Given the description of an element on the screen output the (x, y) to click on. 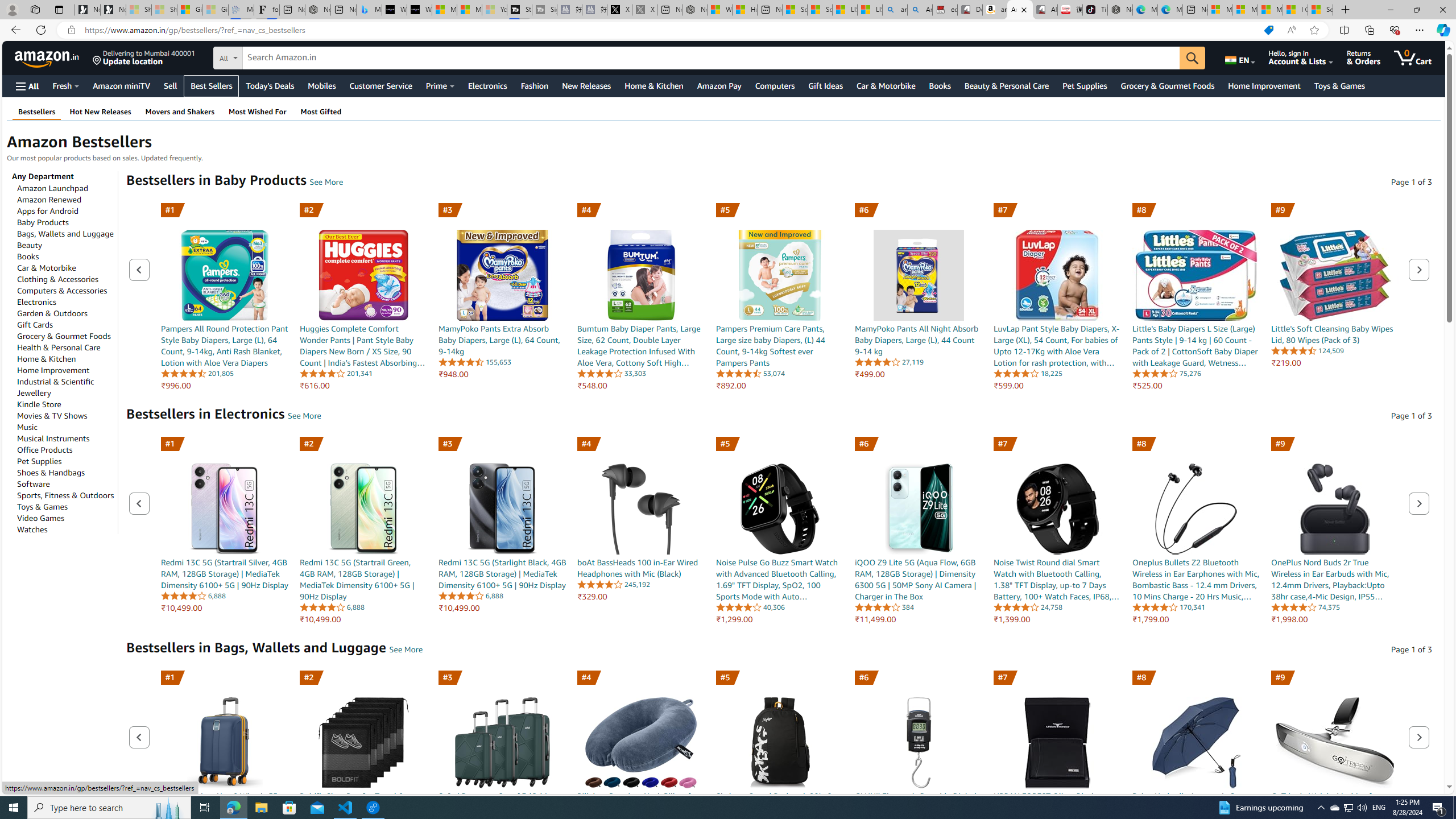
Bestsellers (36, 111)
Music (27, 426)
Address and search bar (669, 29)
Most Wished For (257, 111)
Shoes & Handbags (51, 472)
